Given the description of an element on the screen output the (x, y) to click on. 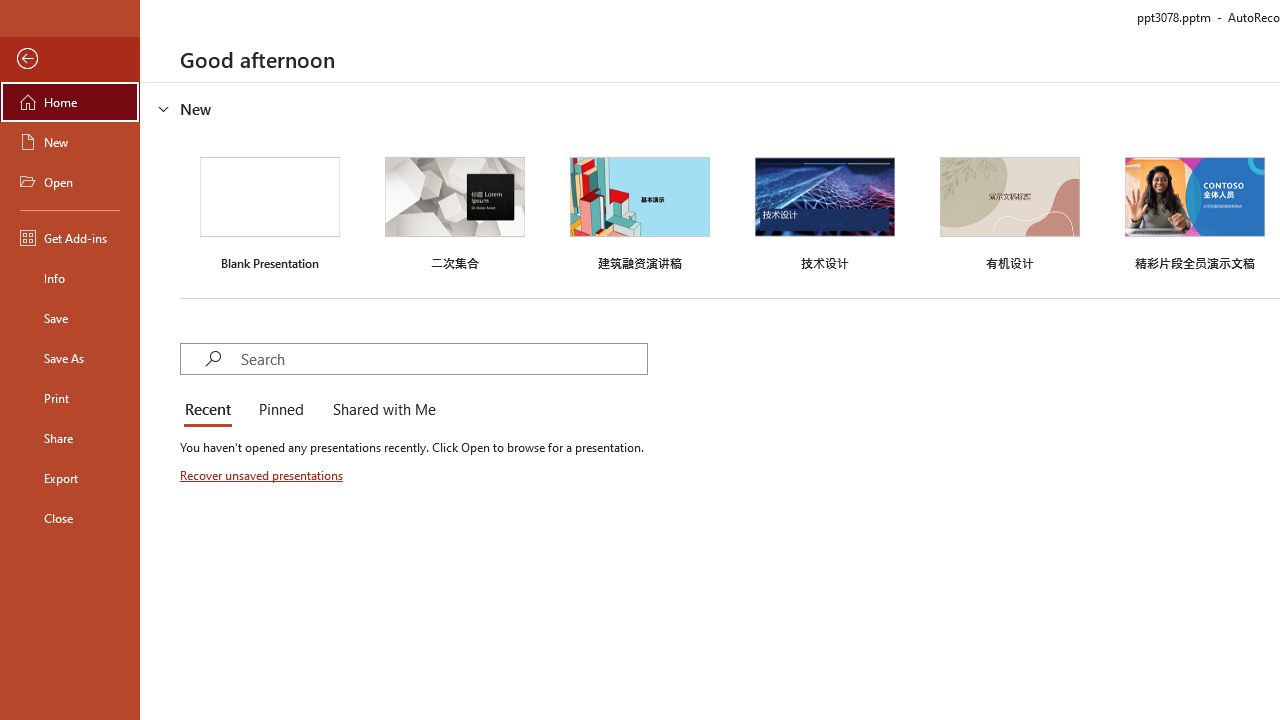
Recent (212, 410)
Hide or show region (164, 108)
Back (69, 59)
Export (69, 477)
Print (69, 398)
Blank Presentation (269, 211)
New (69, 141)
Info (69, 277)
